Given the description of an element on the screen output the (x, y) to click on. 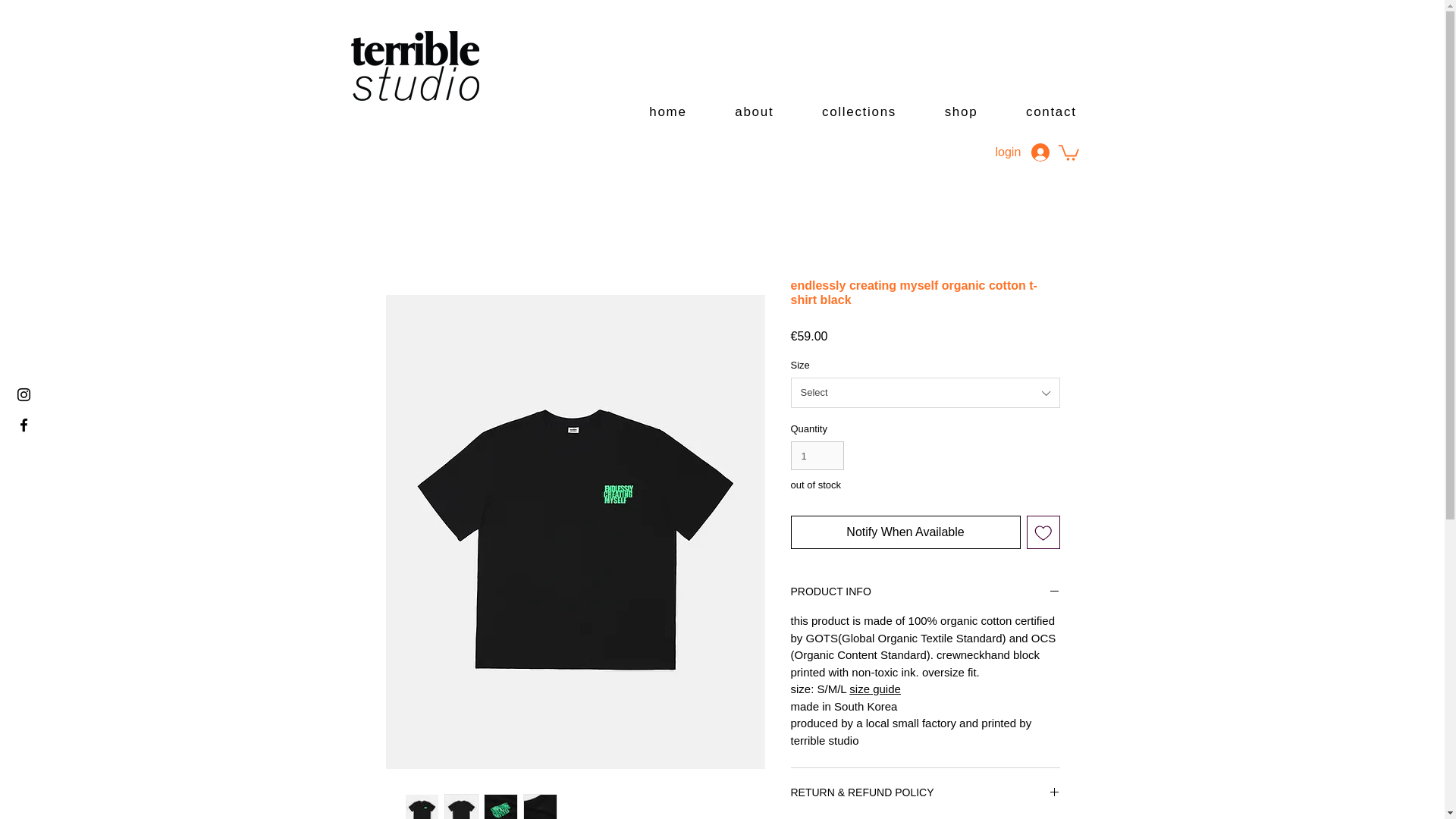
shop (960, 112)
Notify When Available (905, 531)
about (753, 112)
size guide (874, 688)
login (1021, 152)
Select (924, 392)
home (667, 112)
PRODUCT INFO (924, 592)
contact (1051, 112)
1 (817, 455)
